Given the description of an element on the screen output the (x, y) to click on. 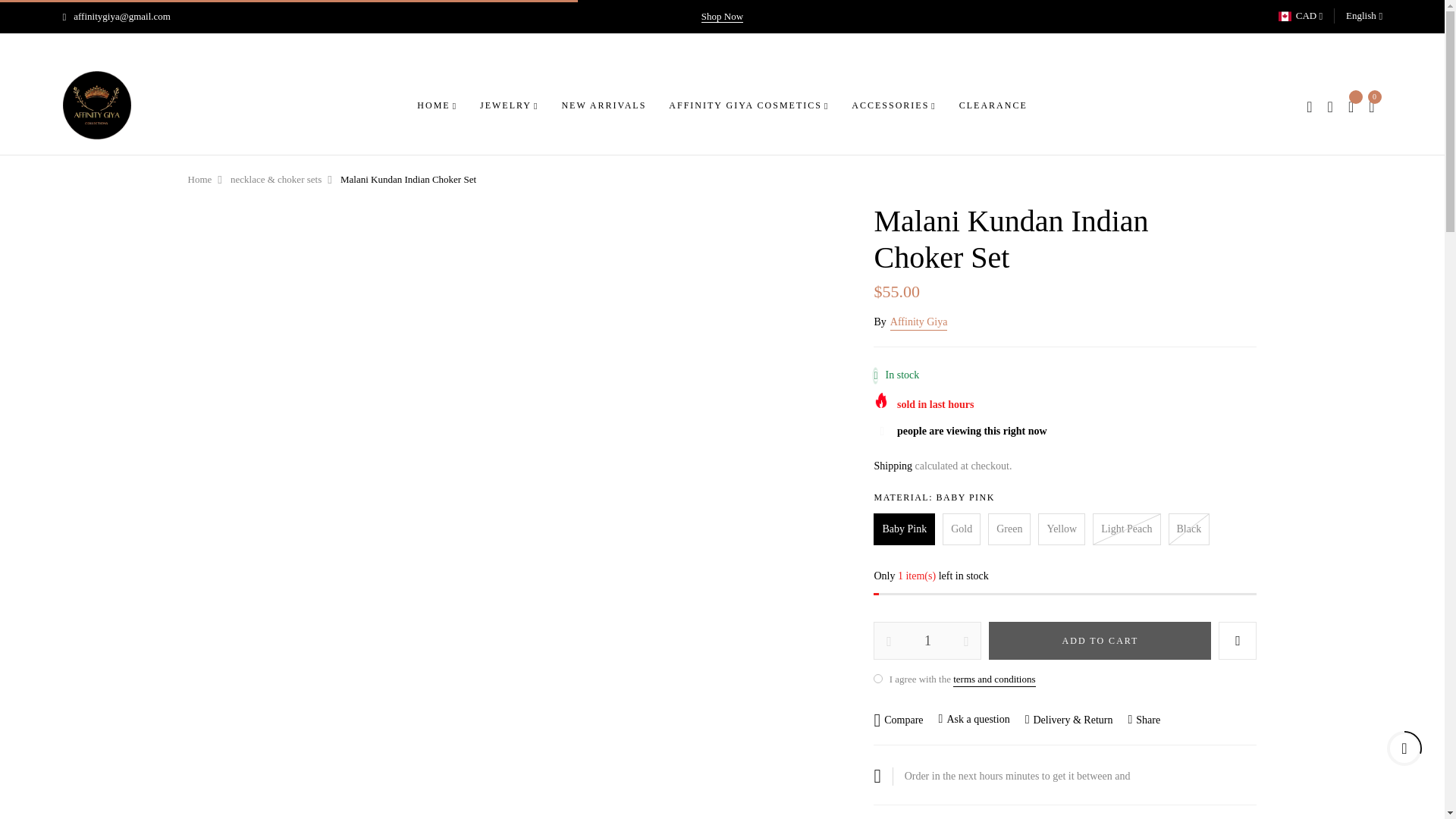
Shop Now (721, 16)
1 (927, 640)
